Given the description of an element on the screen output the (x, y) to click on. 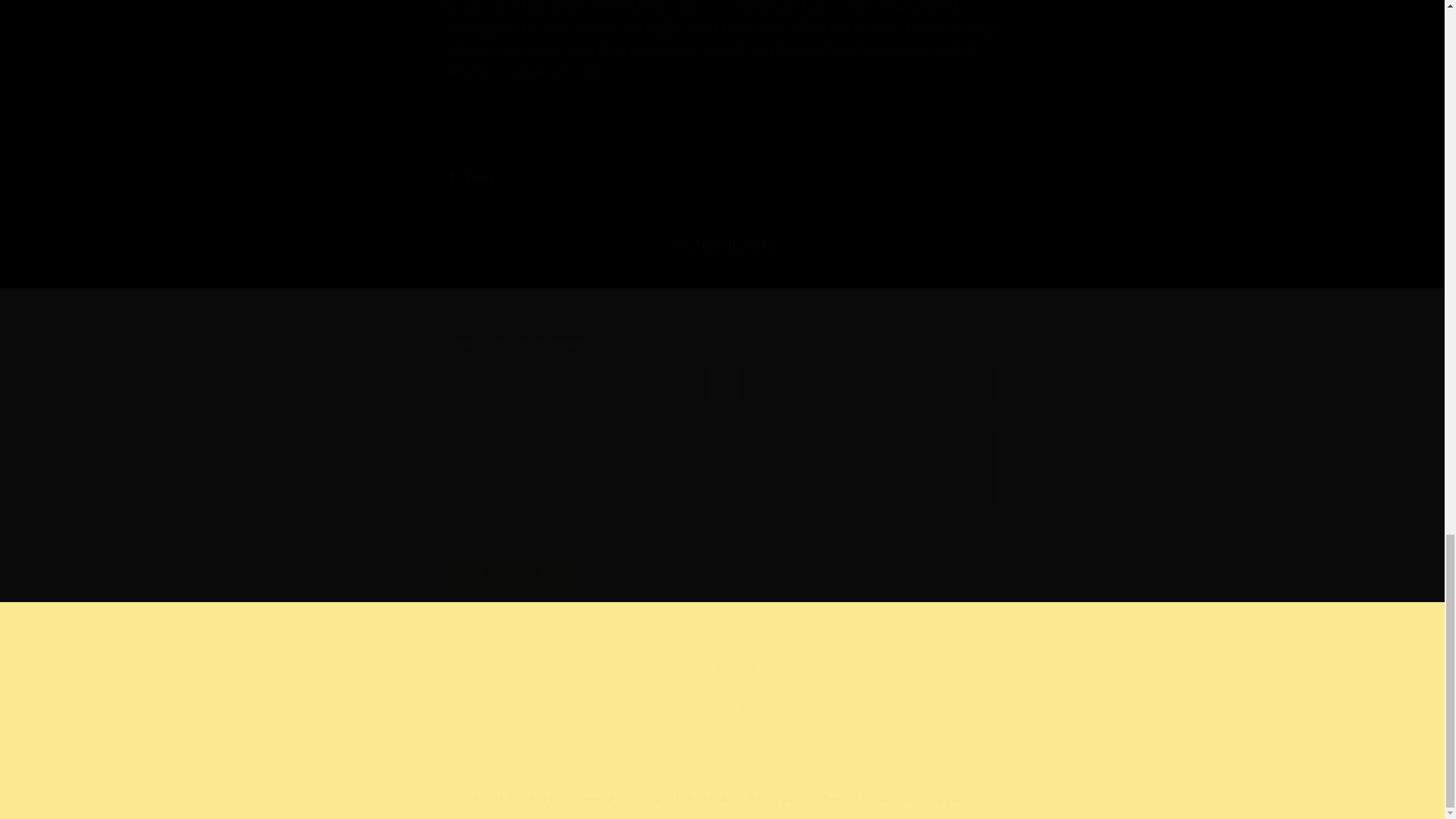
Parkdale Brass blog (727, 27)
Share (721, 177)
Post comment (510, 571)
Instagram (475, 6)
